Given the description of an element on the screen output the (x, y) to click on. 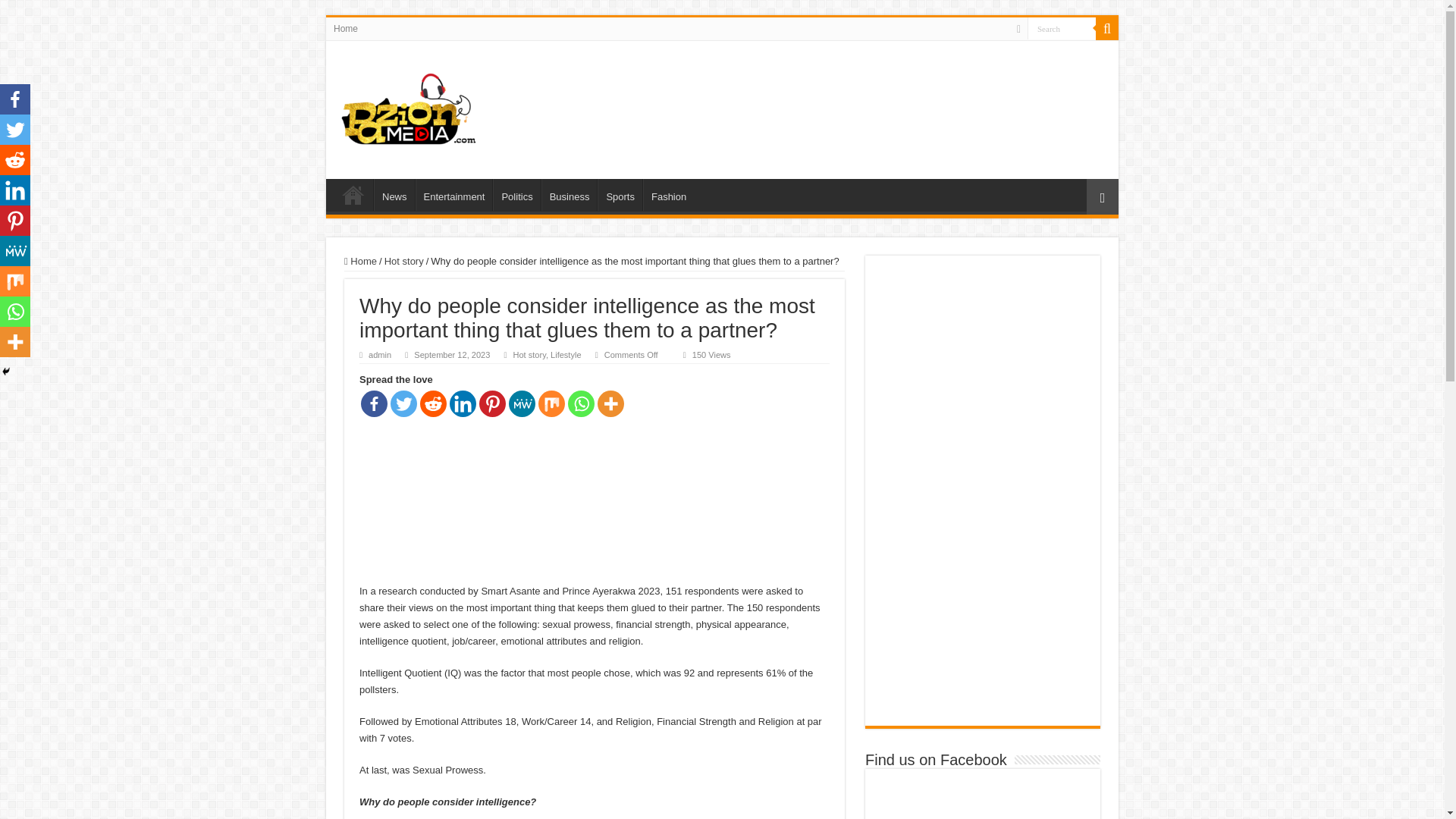
Pazionmedia.com (409, 106)
Lifestyle (565, 354)
Hot story (403, 260)
Fashion (668, 194)
Hot story (528, 354)
Politics (516, 194)
Business (568, 194)
Mix (551, 403)
Entertainment (453, 194)
Search (1107, 28)
Twitter (403, 403)
Facebook (374, 403)
Linkedin (462, 403)
Search (1061, 28)
Reddit (433, 403)
